Given the description of an element on the screen output the (x, y) to click on. 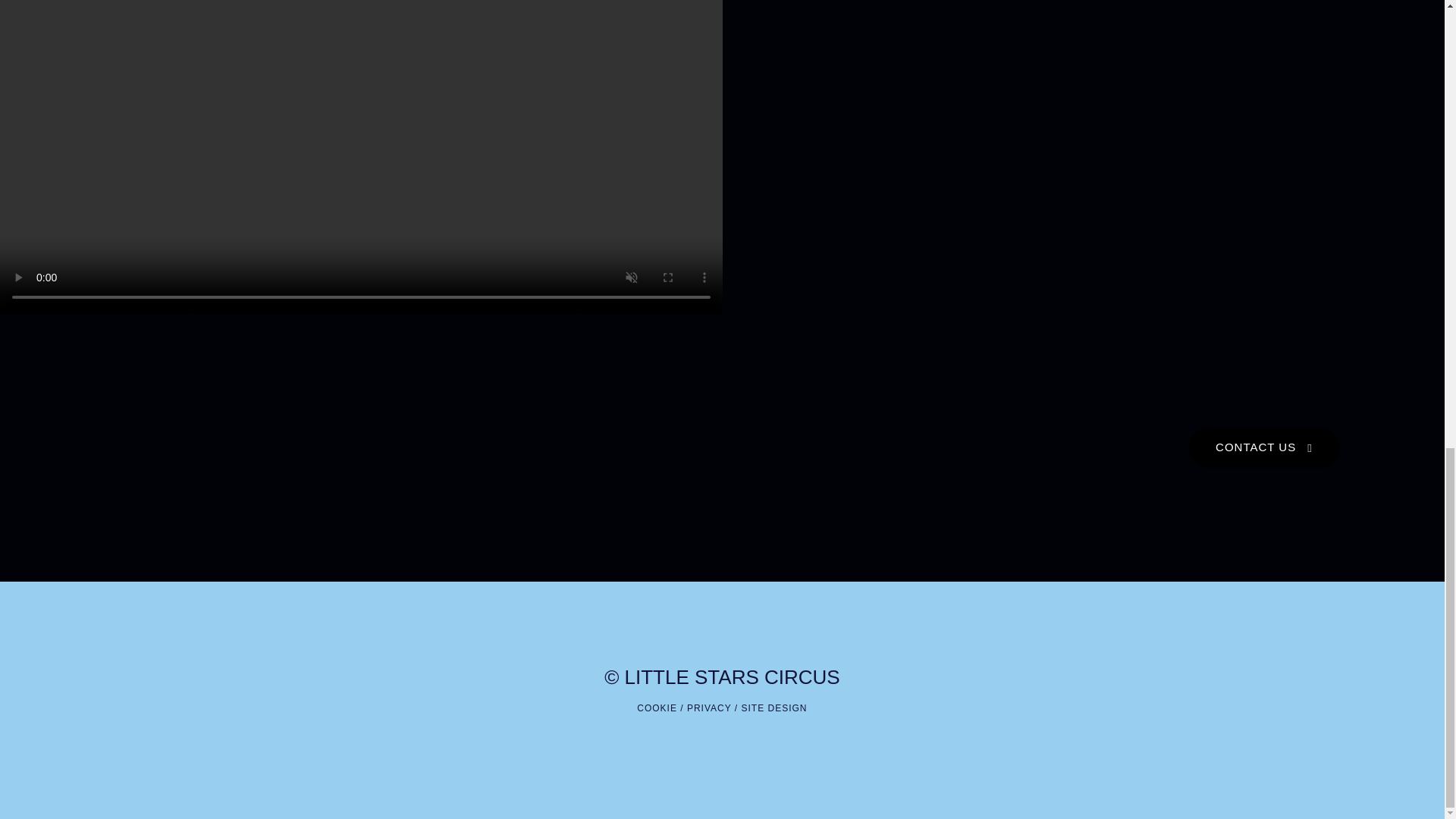
CONTACT US (1264, 447)
